Given the description of an element on the screen output the (x, y) to click on. 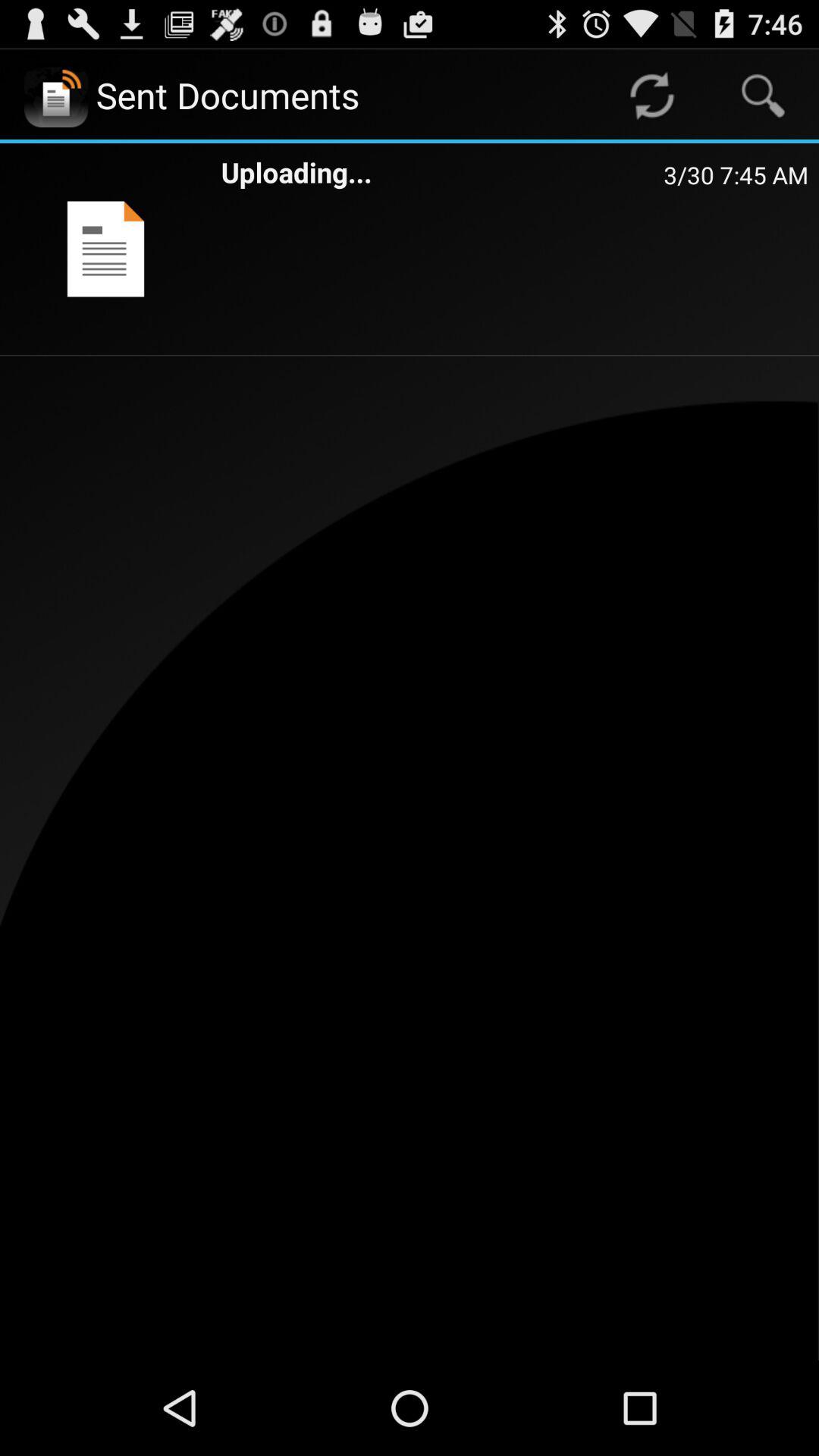
tap the item to the left of 3 30 7 app (442, 172)
